Given the description of an element on the screen output the (x, y) to click on. 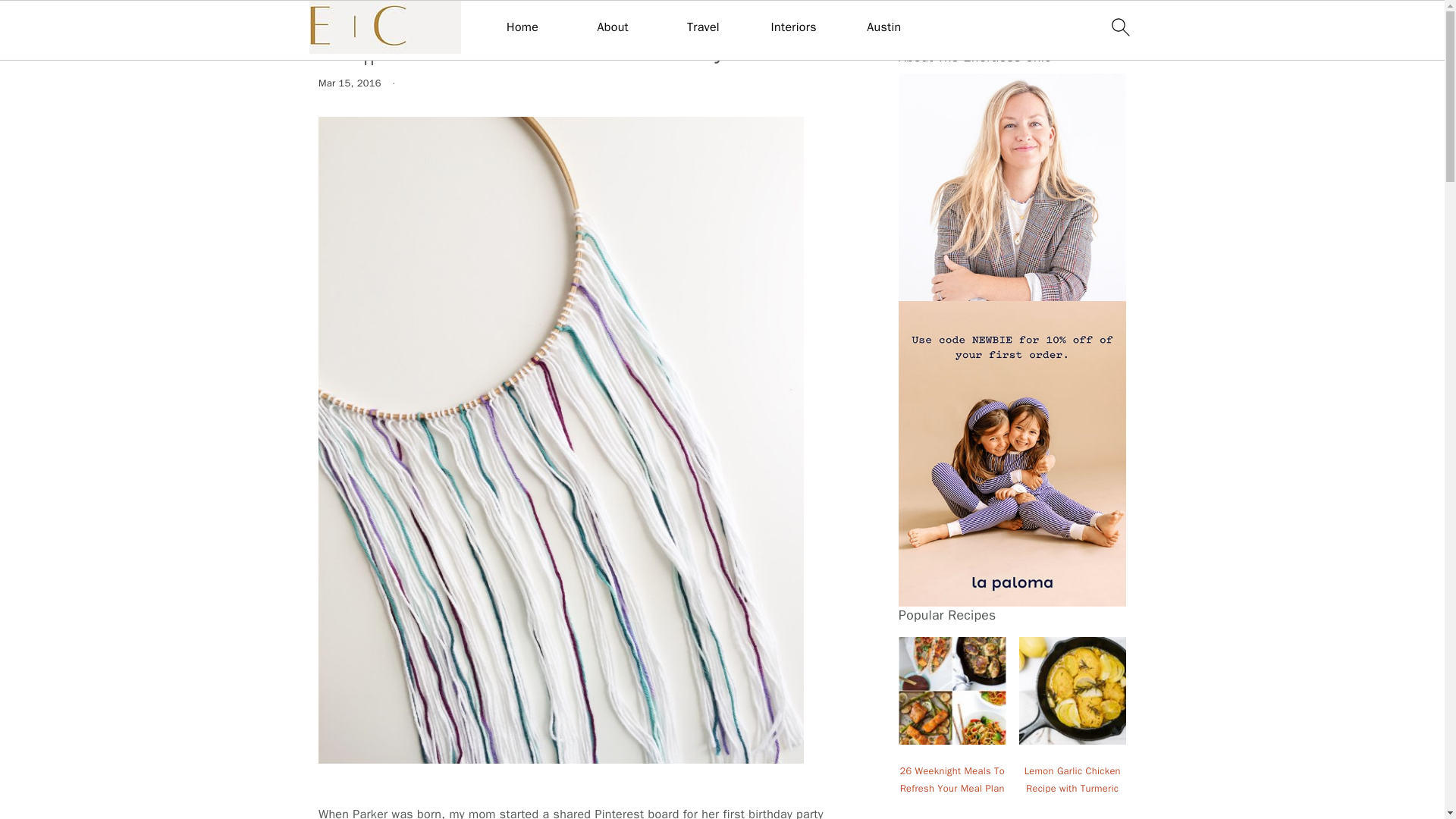
Home (522, 26)
search icon (1119, 26)
About (612, 26)
Travel (703, 26)
Austin (883, 26)
Interiors (793, 26)
